Given the description of an element on the screen output the (x, y) to click on. 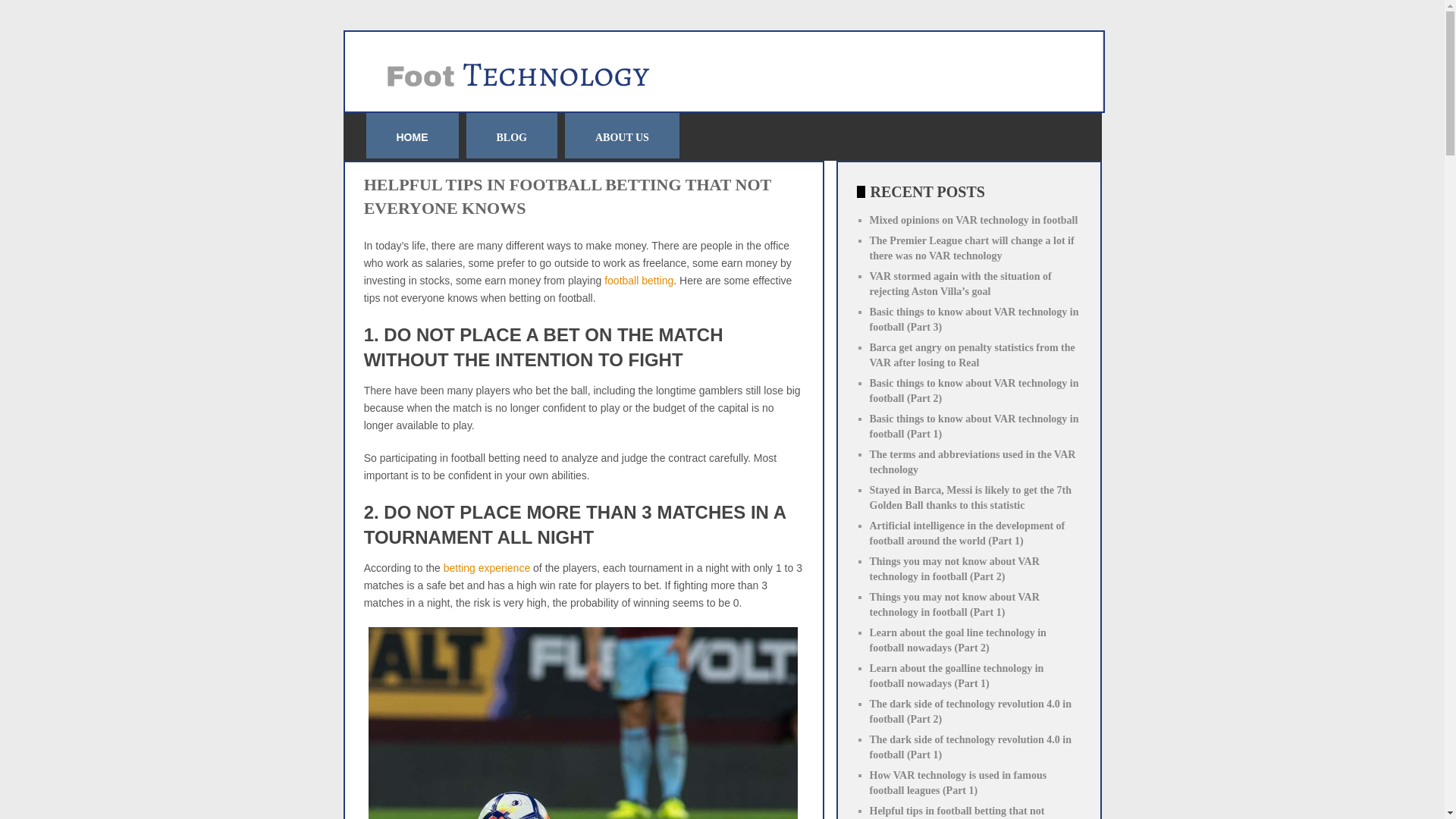
betting experience (486, 567)
football betting (638, 280)
Mixed opinions on VAR technology in football (973, 220)
HOME (411, 136)
ABOUT US (621, 137)
BLOG (510, 137)
Helpful tips in football betting that not everyone knows (956, 812)
